Given the description of an element on the screen output the (x, y) to click on. 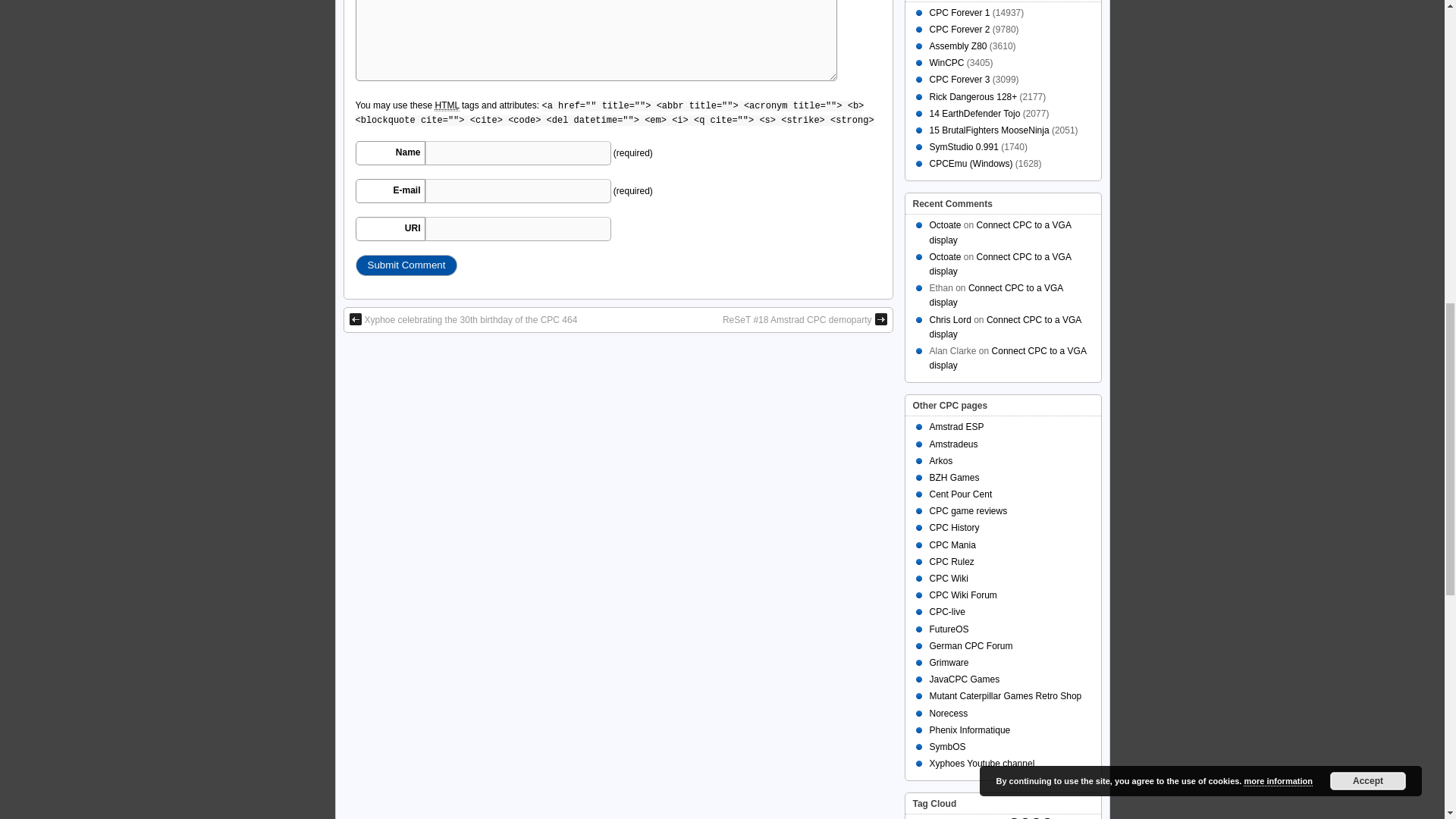
HyperText Markup Language (445, 105)
Submit Comment (406, 265)
Submit Comment (406, 265)
  Xyphoe celebrating the 30th birthday of the CPC 464 (462, 319)
